Given the description of an element on the screen output the (x, y) to click on. 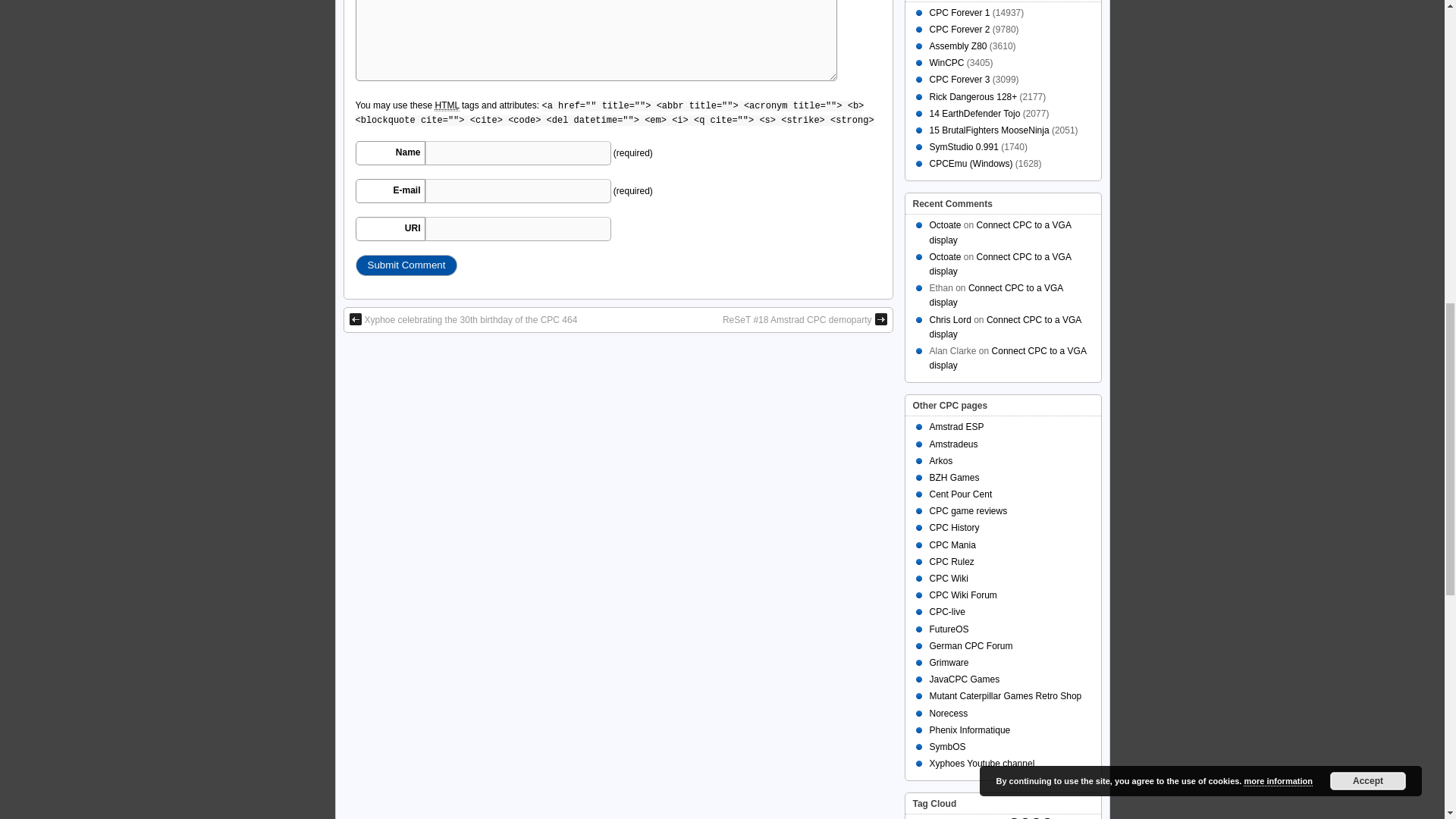
HyperText Markup Language (445, 105)
Submit Comment (406, 265)
Submit Comment (406, 265)
  Xyphoe celebrating the 30th birthday of the CPC 464 (462, 319)
